Given the description of an element on the screen output the (x, y) to click on. 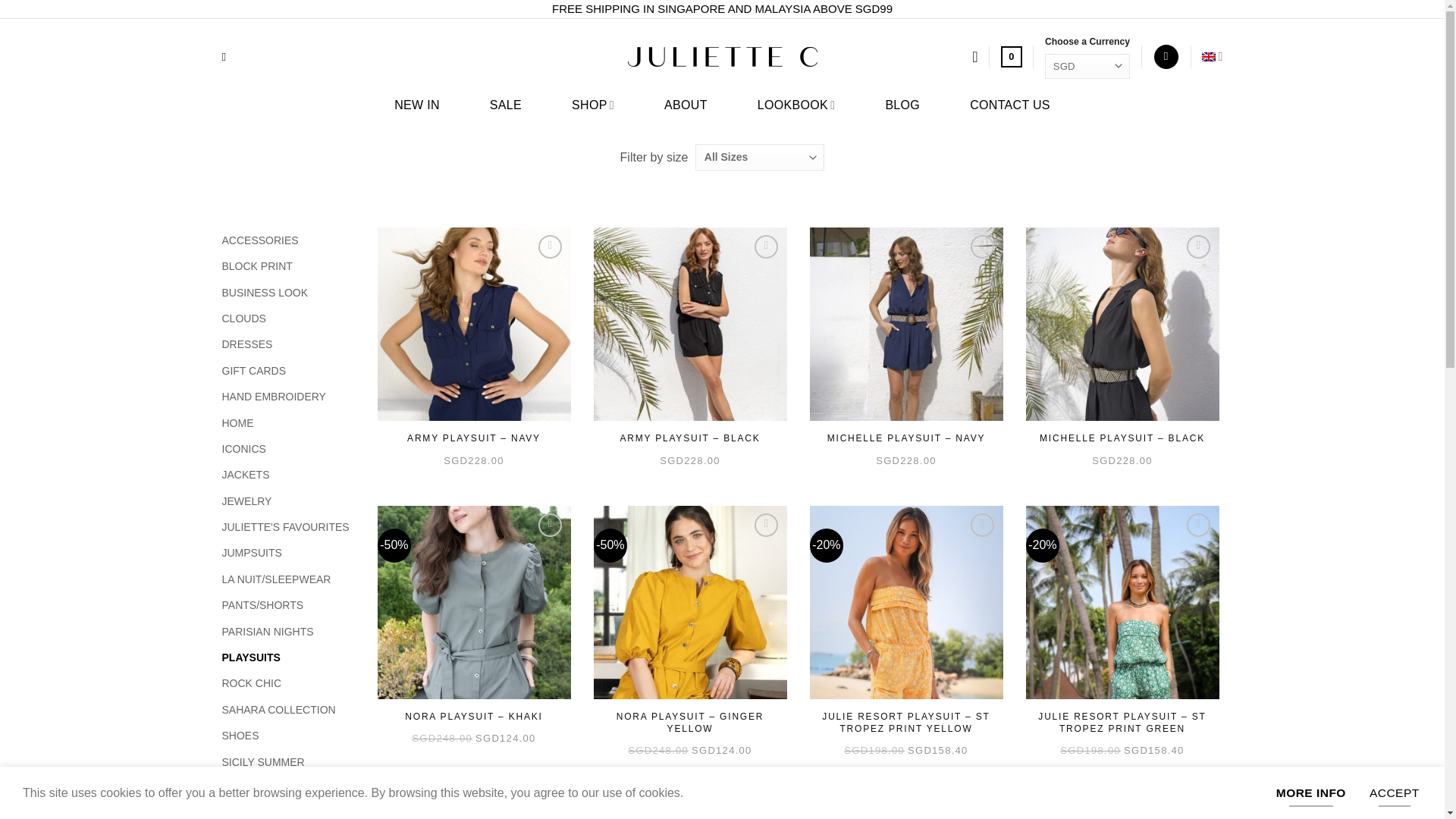
Original price:228 (689, 460)
JULIETTE C - Women Fashion Online (721, 56)
Original price:124 (721, 749)
Original price:228 (906, 460)
Original price:228 (1122, 460)
SALE (505, 107)
Original price:228 (473, 460)
Original price:124 (505, 737)
Original price:198 (874, 749)
Original price:248 (657, 749)
Original price:198 (1090, 749)
Original price:158.4 (937, 749)
ABOUT (685, 107)
SHOP (593, 107)
Original price:248 (441, 737)
